Given the description of an element on the screen output the (x, y) to click on. 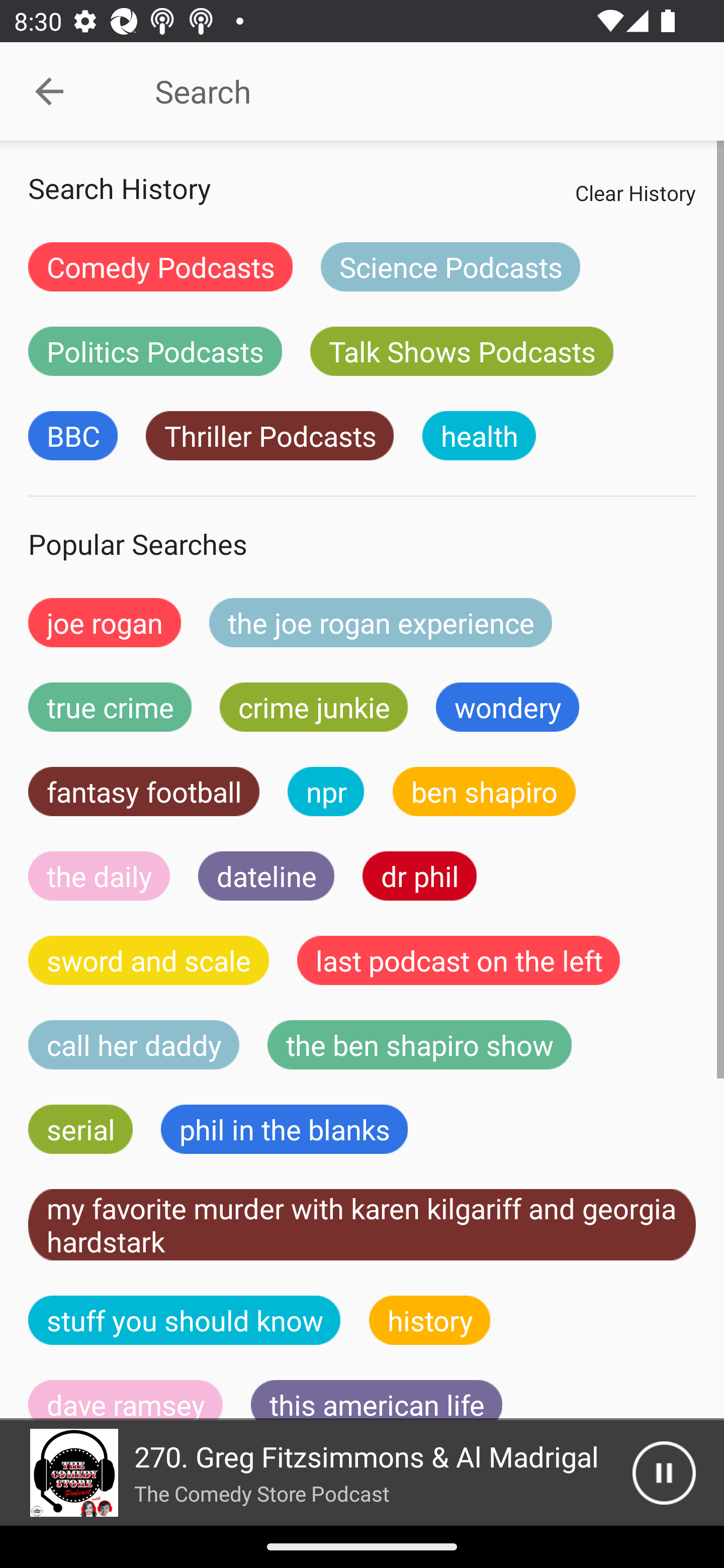
Collapse (49, 91)
Search (407, 91)
Clear History (634, 192)
Comedy Podcasts (160, 266)
Science Podcasts (449, 266)
Politics Podcasts (155, 351)
Talk Shows Podcasts (461, 351)
BBC (72, 435)
Thriller Podcasts (269, 435)
health (478, 435)
joe rogan (104, 622)
the joe rogan experience (380, 622)
true crime (109, 707)
crime junkie (313, 707)
wondery (507, 707)
fantasy football (143, 791)
npr (325, 791)
ben shapiro (483, 791)
the daily (99, 875)
dateline (266, 875)
dr phil (419, 875)
sword and scale (148, 960)
last podcast on the left (458, 960)
call her daddy (133, 1044)
the ben shapiro show (419, 1044)
serial (80, 1128)
phil in the blanks (283, 1128)
stuff you should know (184, 1320)
history (429, 1320)
dave ramsey (125, 1399)
this american life (376, 1399)
Pause (663, 1472)
